Given the description of an element on the screen output the (x, y) to click on. 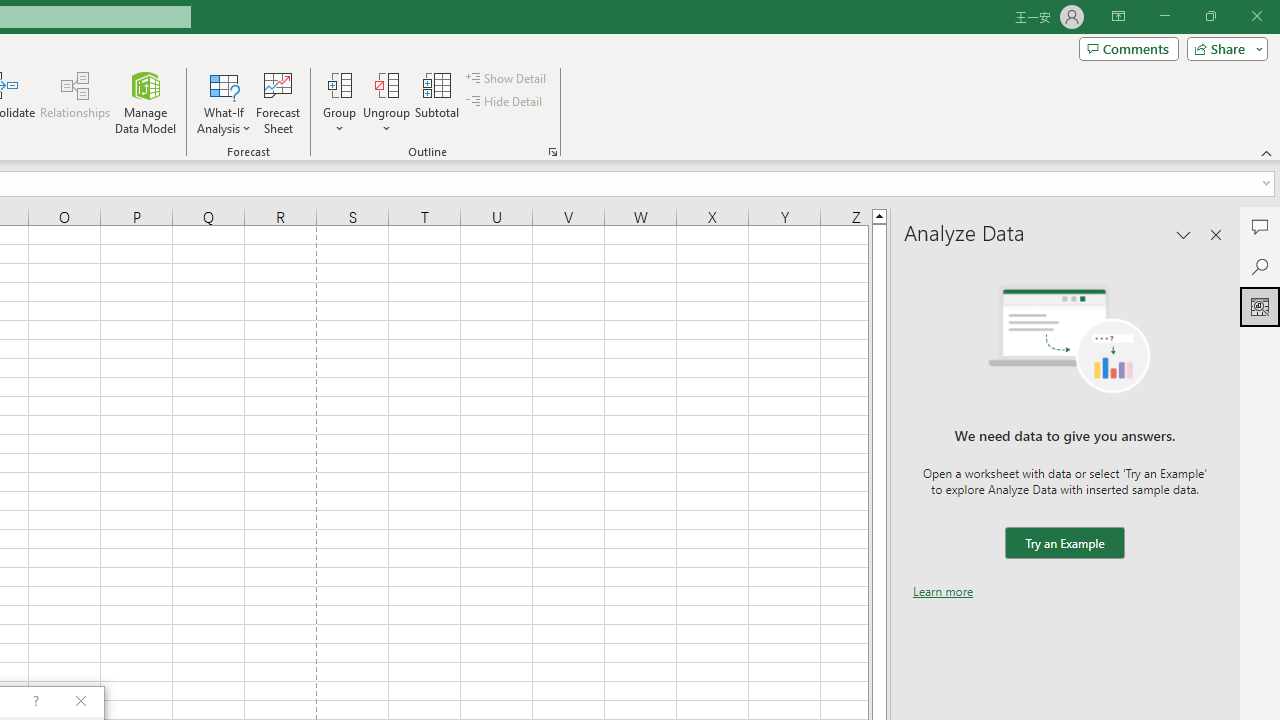
Close pane (1215, 234)
Ribbon Display Options (1118, 16)
Search (1260, 266)
Restore Down (1210, 16)
What-If Analysis (223, 102)
Manage Data Model (145, 102)
Task Pane Options (1183, 234)
Group... (339, 84)
Share (1223, 48)
Forecast Sheet (278, 102)
Group... (339, 102)
Minimize (1164, 16)
Line up (879, 215)
Ungroup... (386, 102)
